Given the description of an element on the screen output the (x, y) to click on. 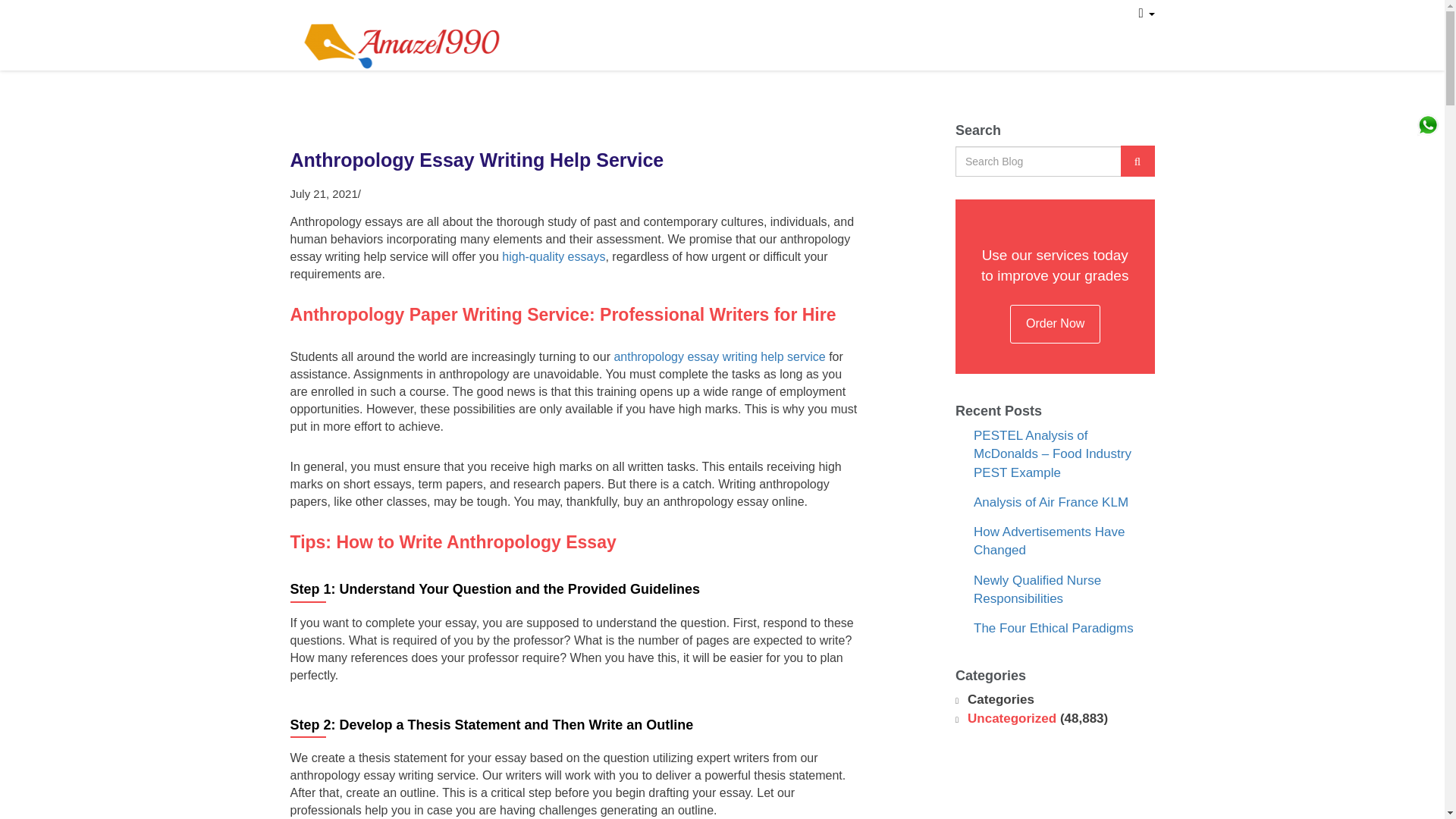
The Four Ethical Paradigms (1054, 627)
How Advertisements Have Changed (1049, 540)
anthropology essay writing help service (718, 356)
Order Now (1055, 323)
high-quality essays (553, 256)
Analysis of Air France KLM (1051, 502)
Newly Qualified Nurse Responsibilities (1037, 589)
Uncategorized (1012, 718)
